Given the description of an element on the screen output the (x, y) to click on. 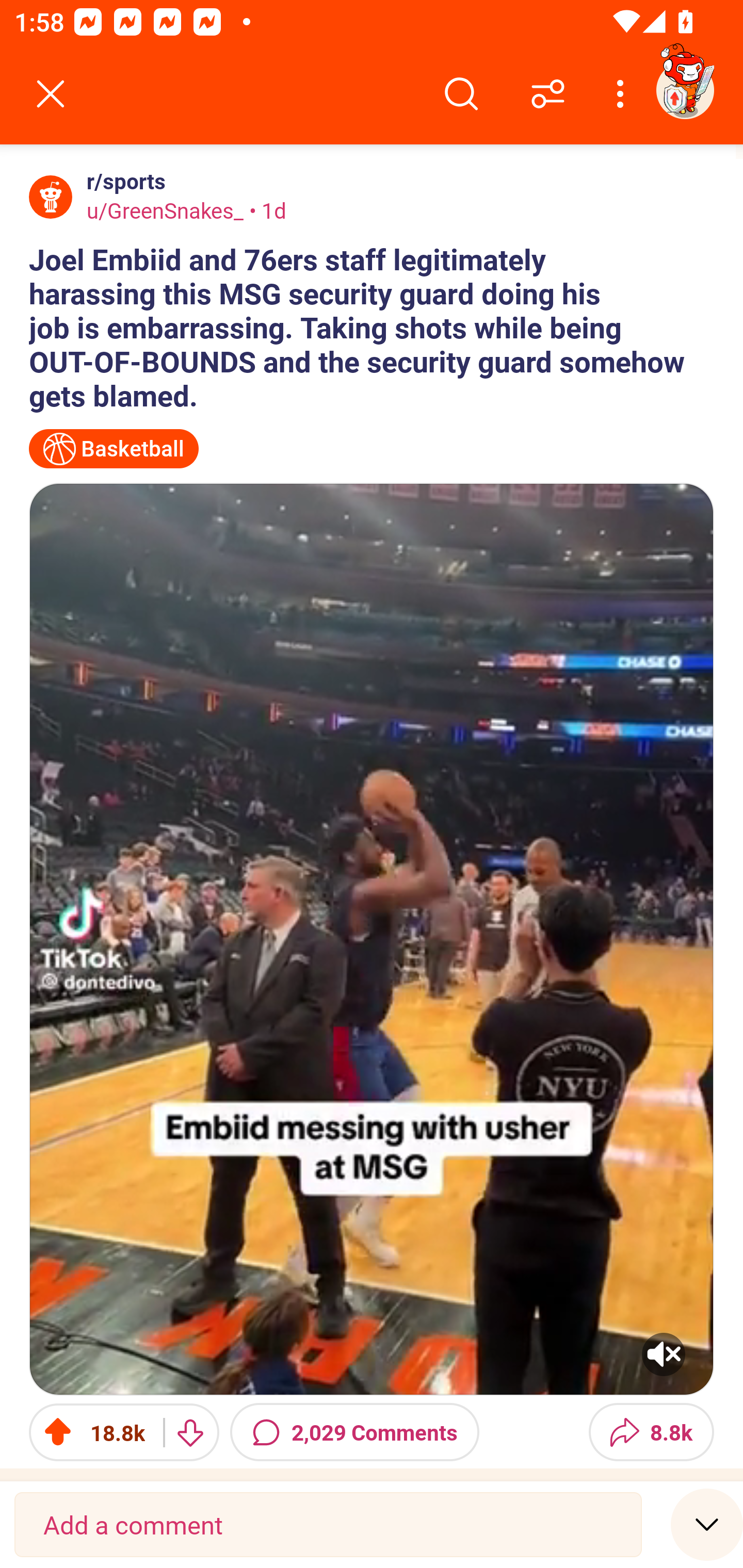
Back (50, 93)
TestAppium002 account (685, 90)
Search comments (460, 93)
Sort comments (547, 93)
More options (623, 93)
r/sports (122, 181)
Avatar (50, 196)
u/GreenSnakes_ (164, 210)
￼ Basketball (113, 448)
Unmute (371, 938)
Unmute (663, 1354)
Upvote 18.8k Downvote 2,029 Comments Share 8.8k (371, 1432)
Downvote (189, 1432)
2,029 Comments (354, 1432)
Share 8.8k (651, 1432)
Speed read (706, 1524)
Add a comment (327, 1524)
